Given the description of an element on the screen output the (x, y) to click on. 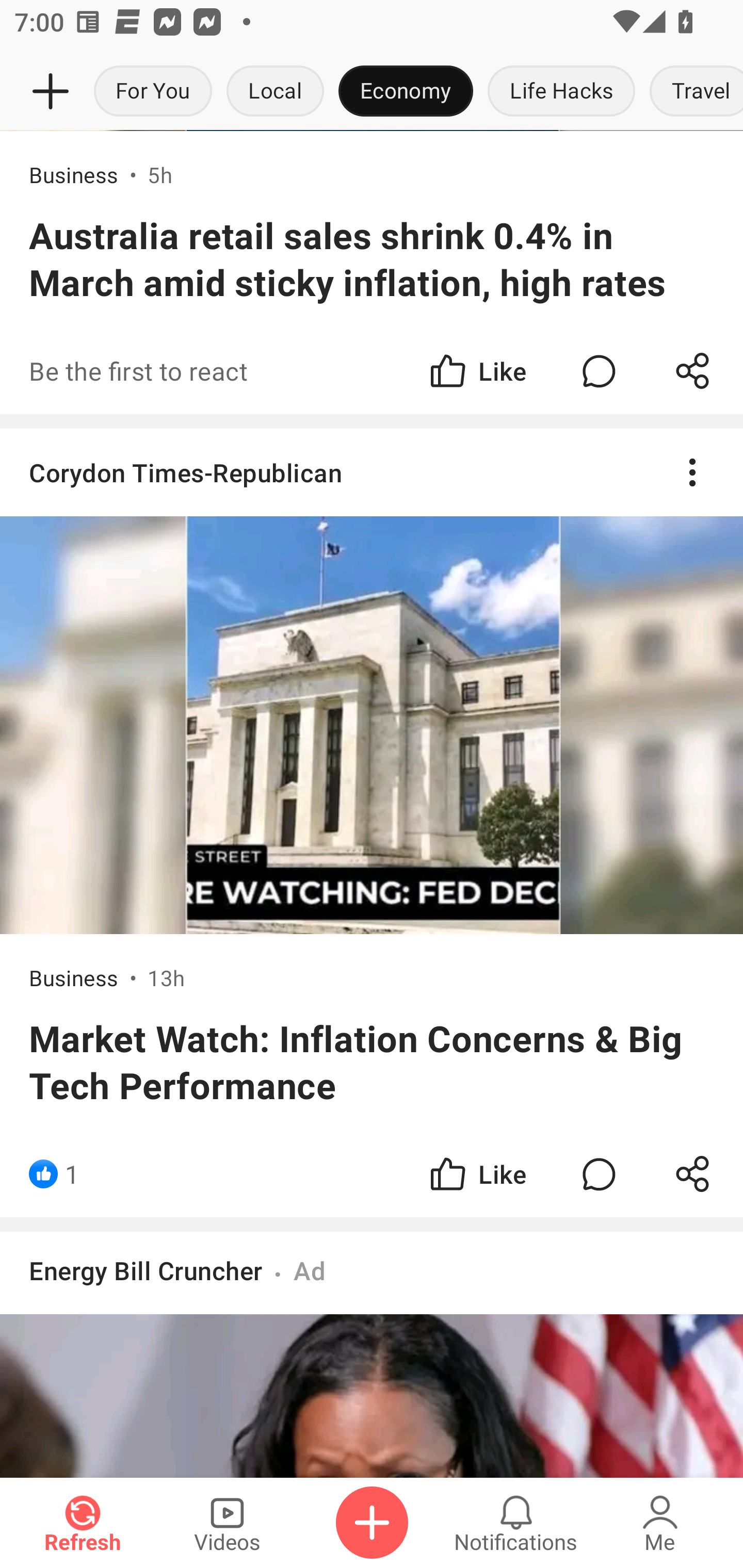
For You (152, 91)
Local (275, 91)
Economy (405, 91)
Life Hacks (561, 91)
Travel (692, 91)
Be the first to react (244, 370)
Like (476, 370)
Corydon Times-Republican (371, 471)
1 (72, 1173)
Like (476, 1173)
Energy Bill Cruncher (145, 1269)
Videos (227, 1522)
Notifications (516, 1522)
Me (659, 1522)
